Given the description of an element on the screen output the (x, y) to click on. 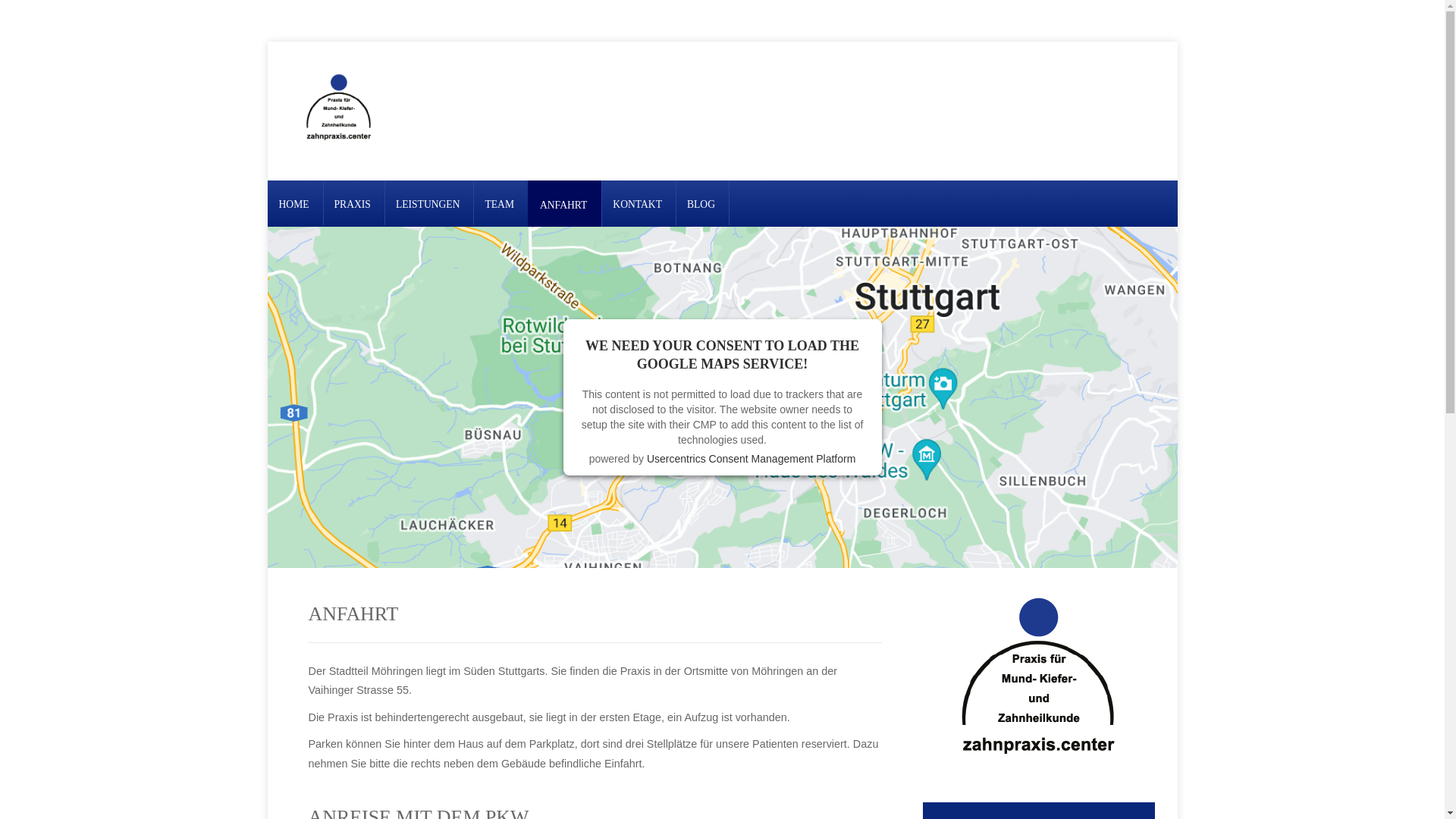
LEISTUNGEN Element type: text (427, 204)
BLOG Element type: text (701, 204)
HOME Element type: text (294, 204)
ANFAHRT Element type: text (562, 204)
TEAM Element type: text (499, 204)
PRAXIS Element type: text (352, 204)
KONTAKT Element type: text (637, 204)
Usercentrics Consent Management Platform Element type: text (750, 458)
